Given the description of an element on the screen output the (x, y) to click on. 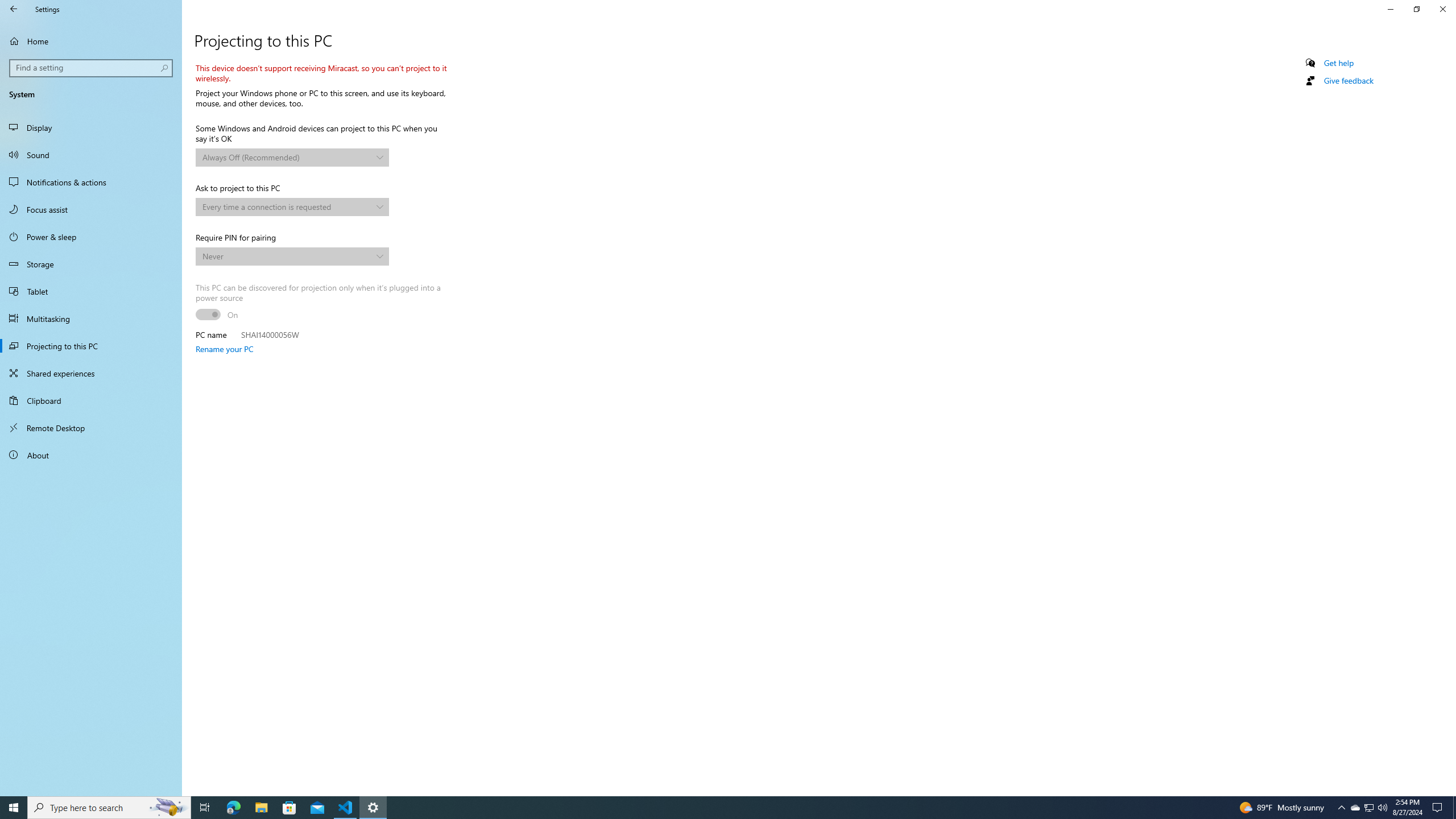
Search box, Find a setting (91, 67)
Rename your PC (224, 348)
Shared experiences (91, 372)
